Given the description of an element on the screen output the (x, y) to click on. 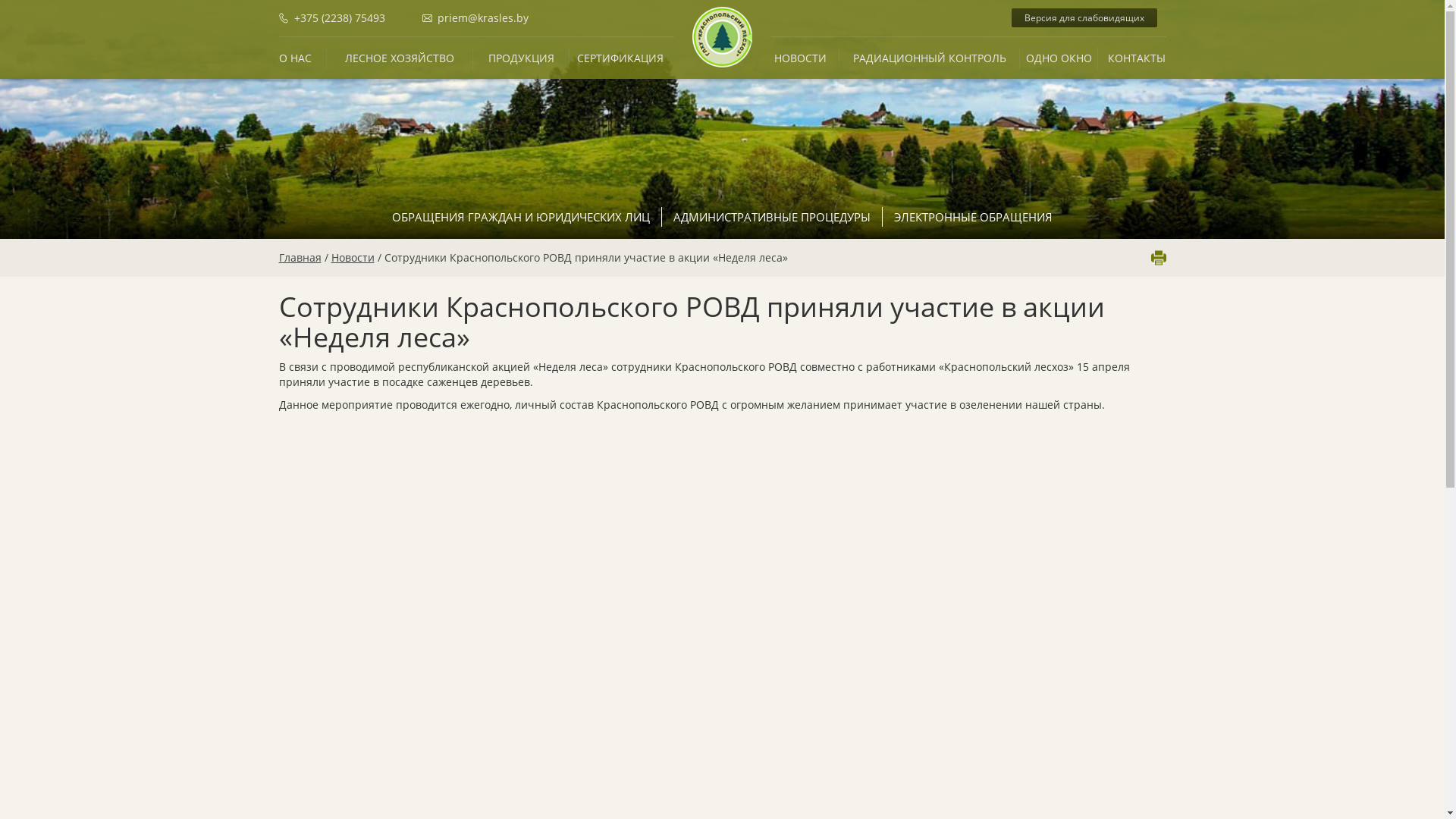
priem@krasles.by Element type: text (474, 17)
+375 (2238) 75493 Element type: text (349, 17)
